Given the description of an element on the screen output the (x, y) to click on. 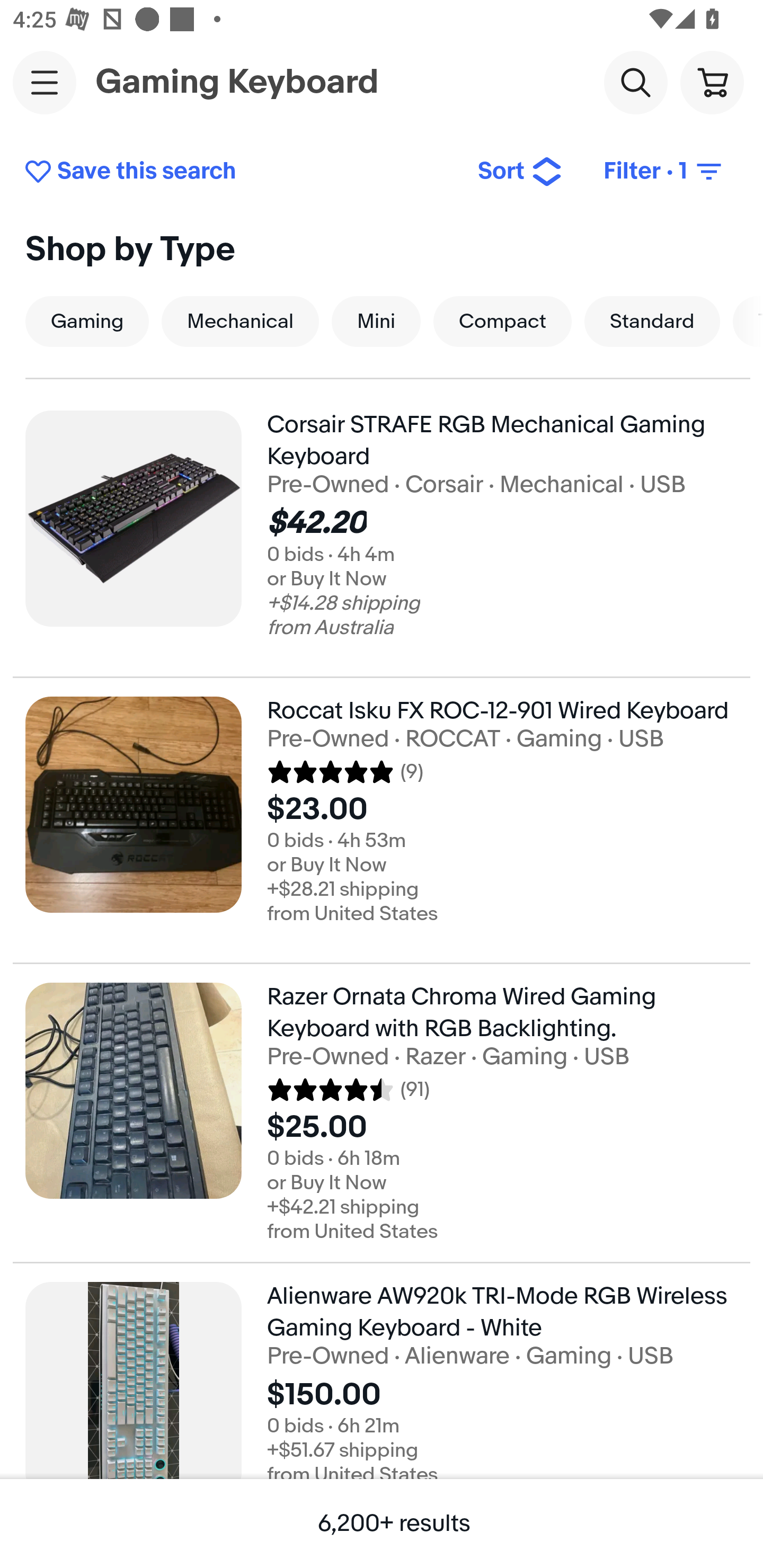
Main navigation, open (44, 82)
Search (635, 81)
Cart button shopping cart (711, 81)
Save this search (237, 171)
Sort (520, 171)
Filter • 1 Filter (1 applied) (663, 171)
Gaming Gaming, Type (86, 321)
Mechanical Mechanical, Type (239, 321)
Mini Mini, Type (375, 321)
Compact Compact, Type (502, 321)
Standard Standard, Type (652, 321)
